Given the description of an element on the screen output the (x, y) to click on. 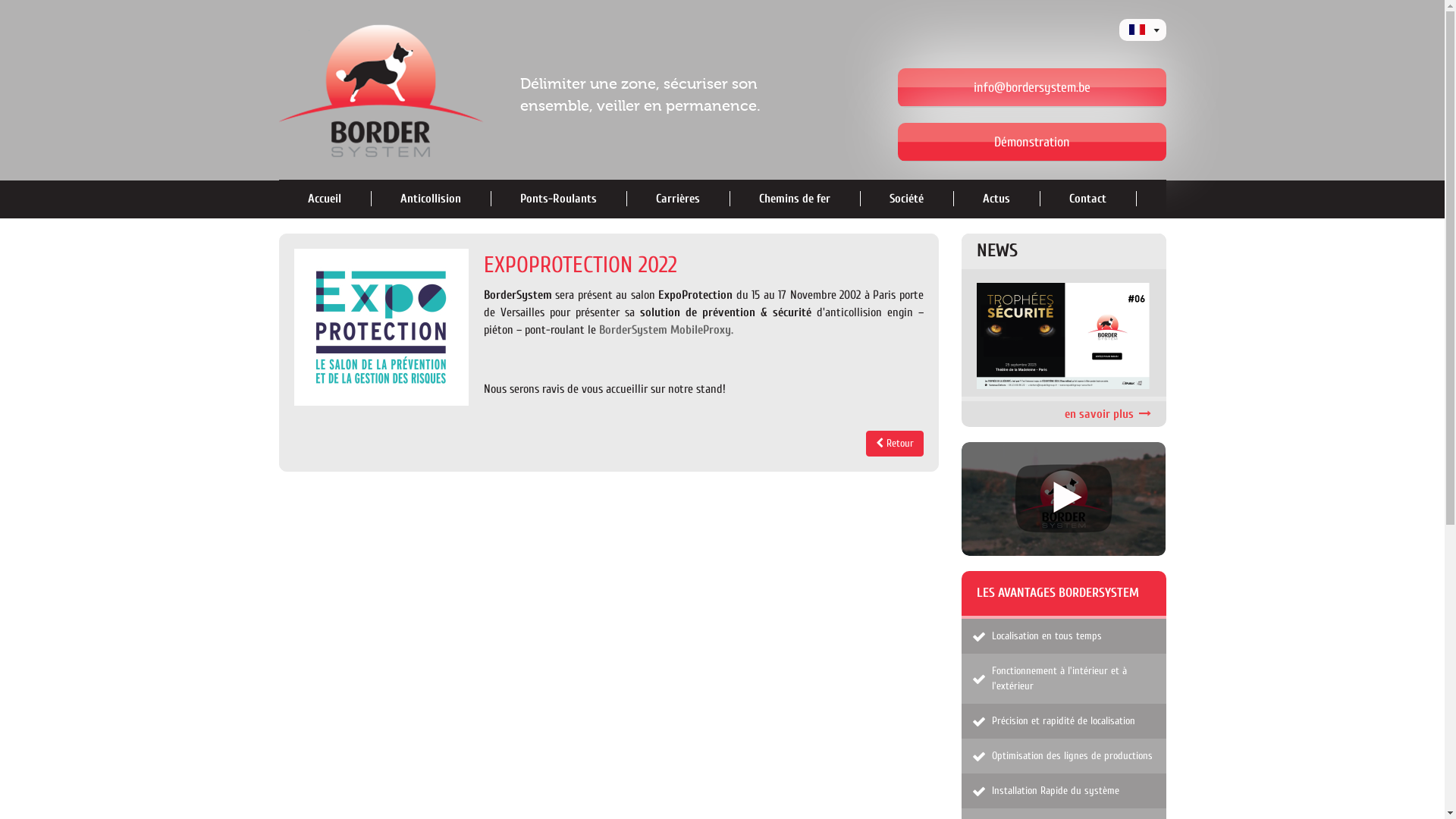
BorderSystem - Expoprotection 2022 Element type: hover (381, 326)
en savoir plus Element type: text (1107, 414)
Chemins de fer Element type: text (793, 198)
info@bordersystem.be Element type: text (1031, 87)
Actus Element type: text (995, 198)
en savoir plus Element type: hover (1063, 335)
BorderSystem Element type: hover (399, 89)
Accueil Element type: text (324, 198)
Retour Element type: text (894, 443)
Anticollision Element type: text (430, 198)
Contact Element type: text (1087, 198)
NEWS Element type: text (996, 250)
Ponts-Roulants Element type: text (558, 198)
BorderSystem MobileProxy. Element type: text (666, 329)
